Given the description of an element on the screen output the (x, y) to click on. 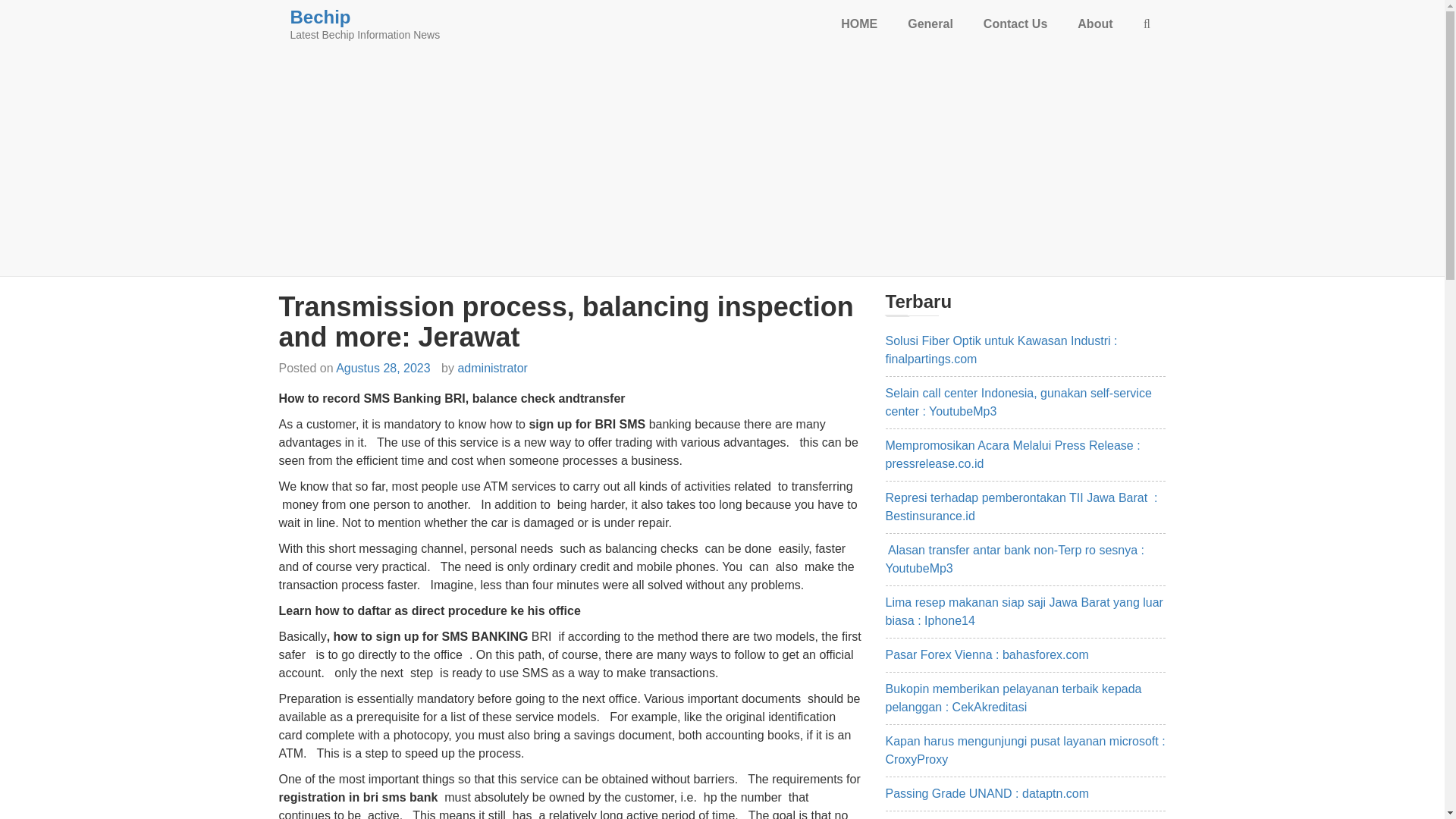
General (930, 24)
Agustus 28, 2023 (383, 367)
Kapan harus mengunjungi pusat layanan microsoft : CroxyProxy (1025, 749)
Passing Grade UNAND : dataptn.com (987, 793)
administrator (492, 367)
Contact Us (1015, 24)
